Given the description of an element on the screen output the (x, y) to click on. 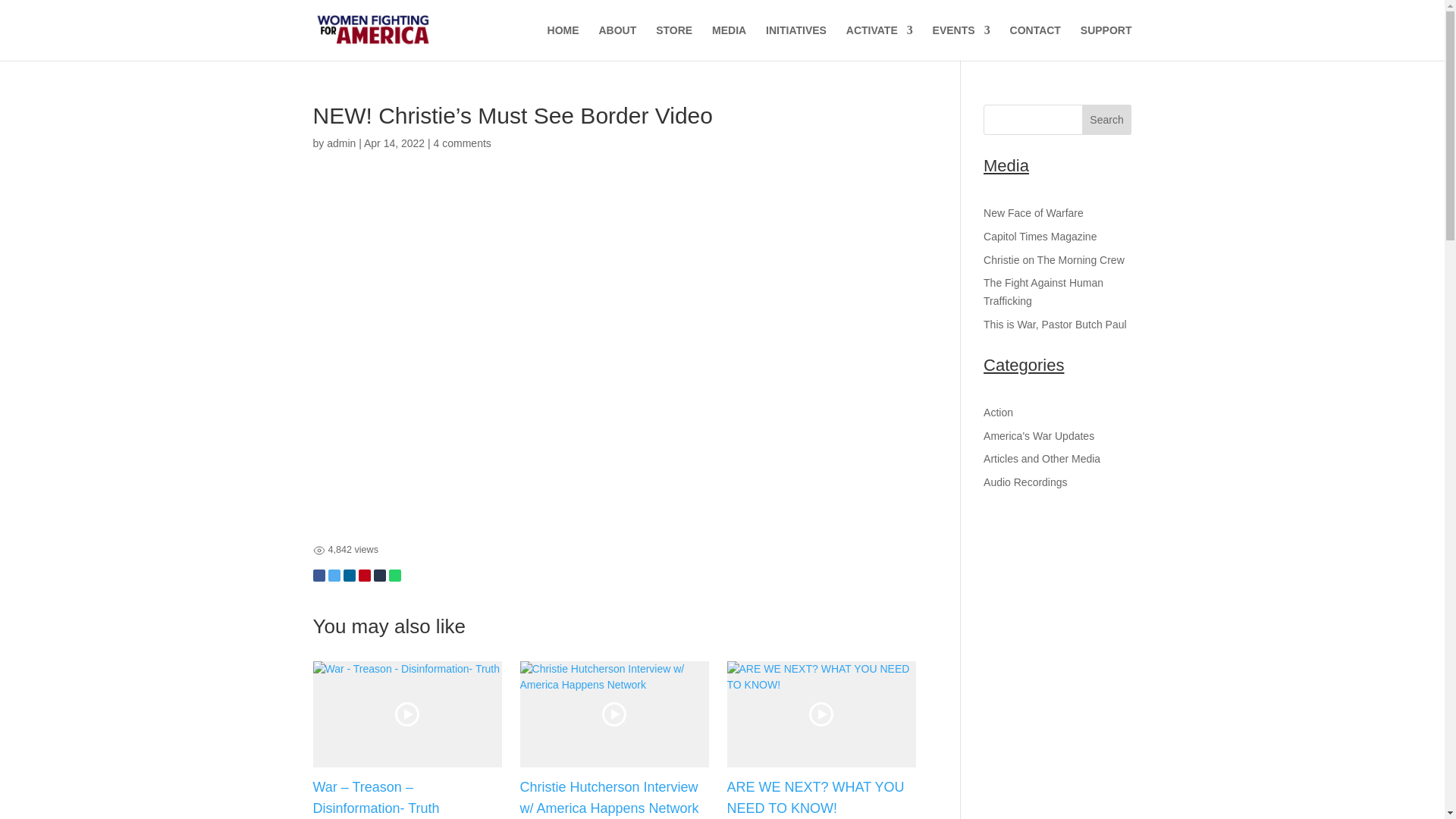
HOME (563, 42)
WhatsApp (394, 575)
4 comments (462, 143)
EVENTS (961, 42)
CONTACT (1035, 42)
ARE WE NEXT? WHAT YOU NEED TO KNOW! (815, 797)
INITIATIVES (796, 42)
SUPPORT (1106, 42)
admin (340, 143)
STORE (674, 42)
Facebook (318, 575)
Twitter (333, 575)
MEDIA (728, 42)
Linkedin (348, 575)
Pin It (363, 575)
